Given the description of an element on the screen output the (x, y) to click on. 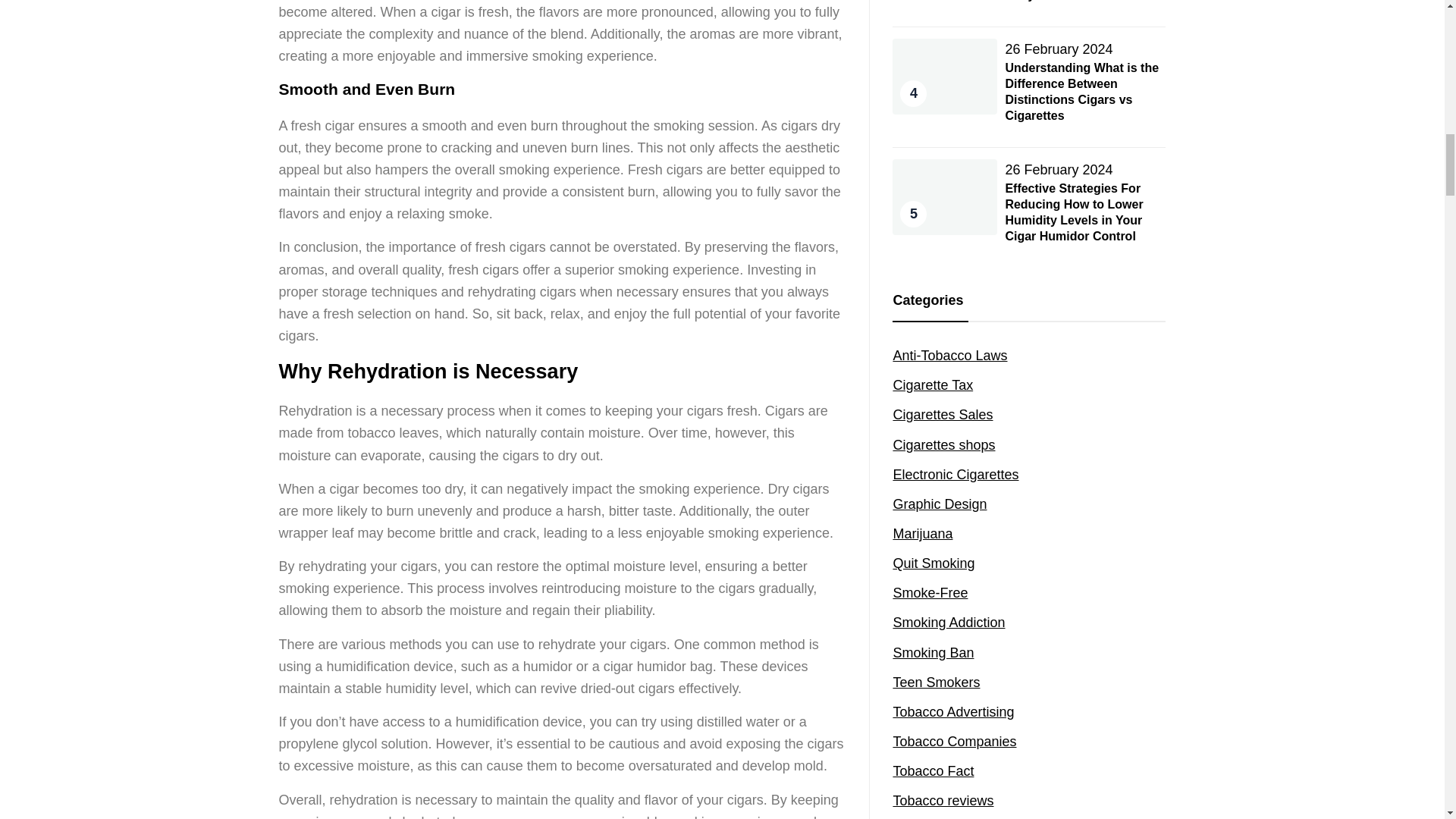
Images of blog posts (942, 800)
26 February 2024 (1058, 48)
26 February 2024 (1058, 169)
